Given the description of an element on the screen output the (x, y) to click on. 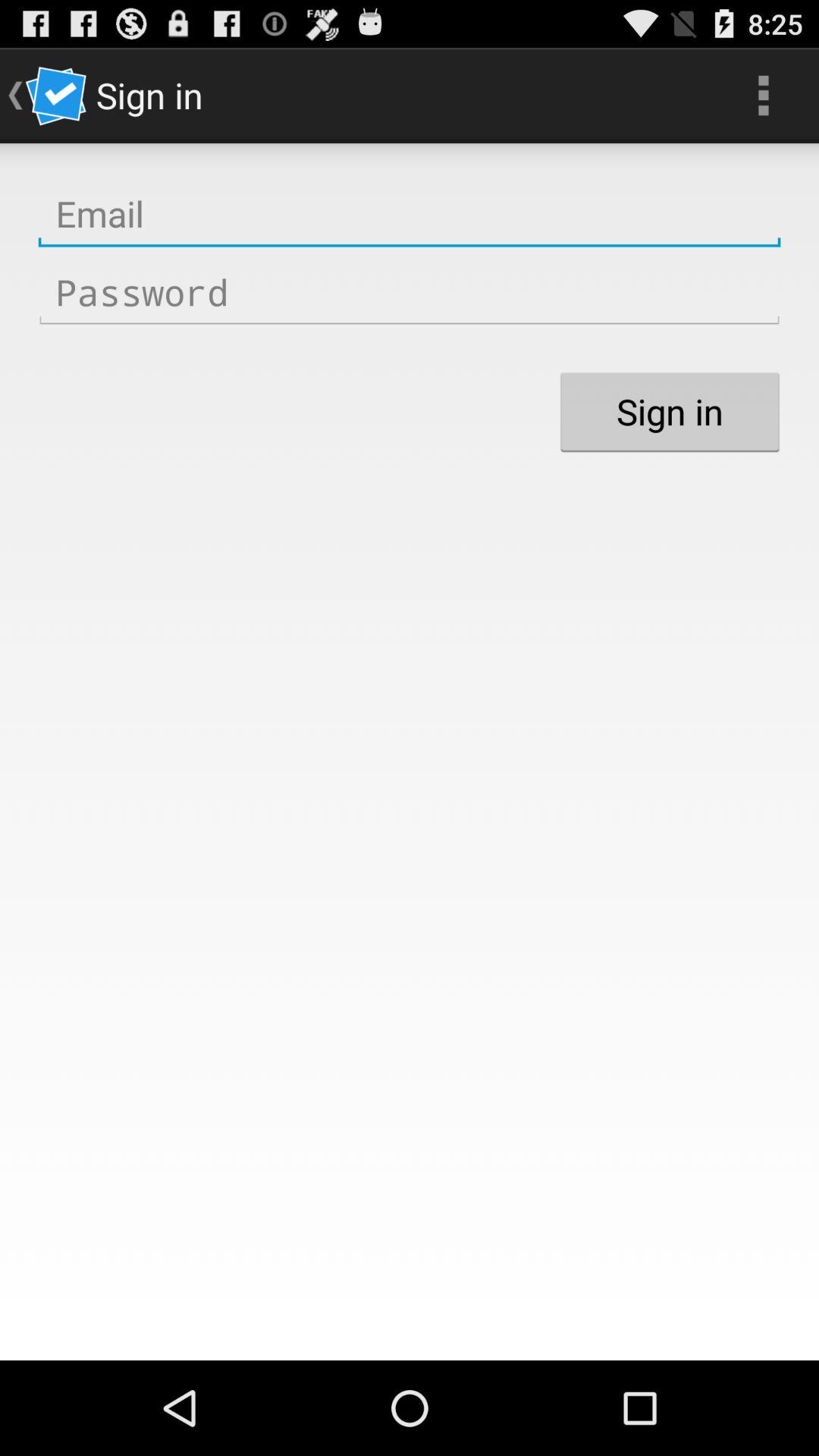
email input to login (409, 214)
